Given the description of an element on the screen output the (x, y) to click on. 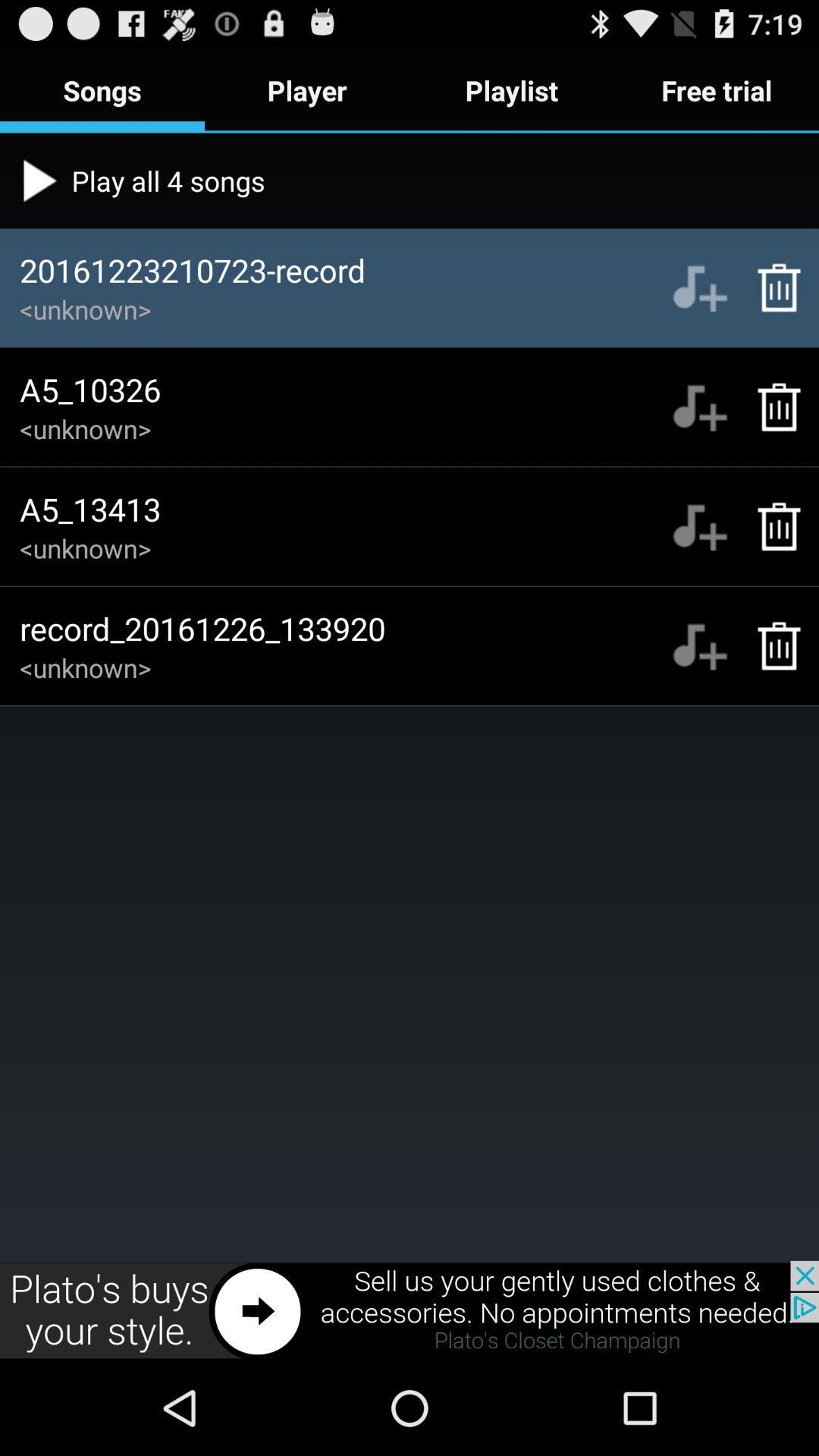
a5_13413 trash can icon (771, 526)
